Given the description of an element on the screen output the (x, y) to click on. 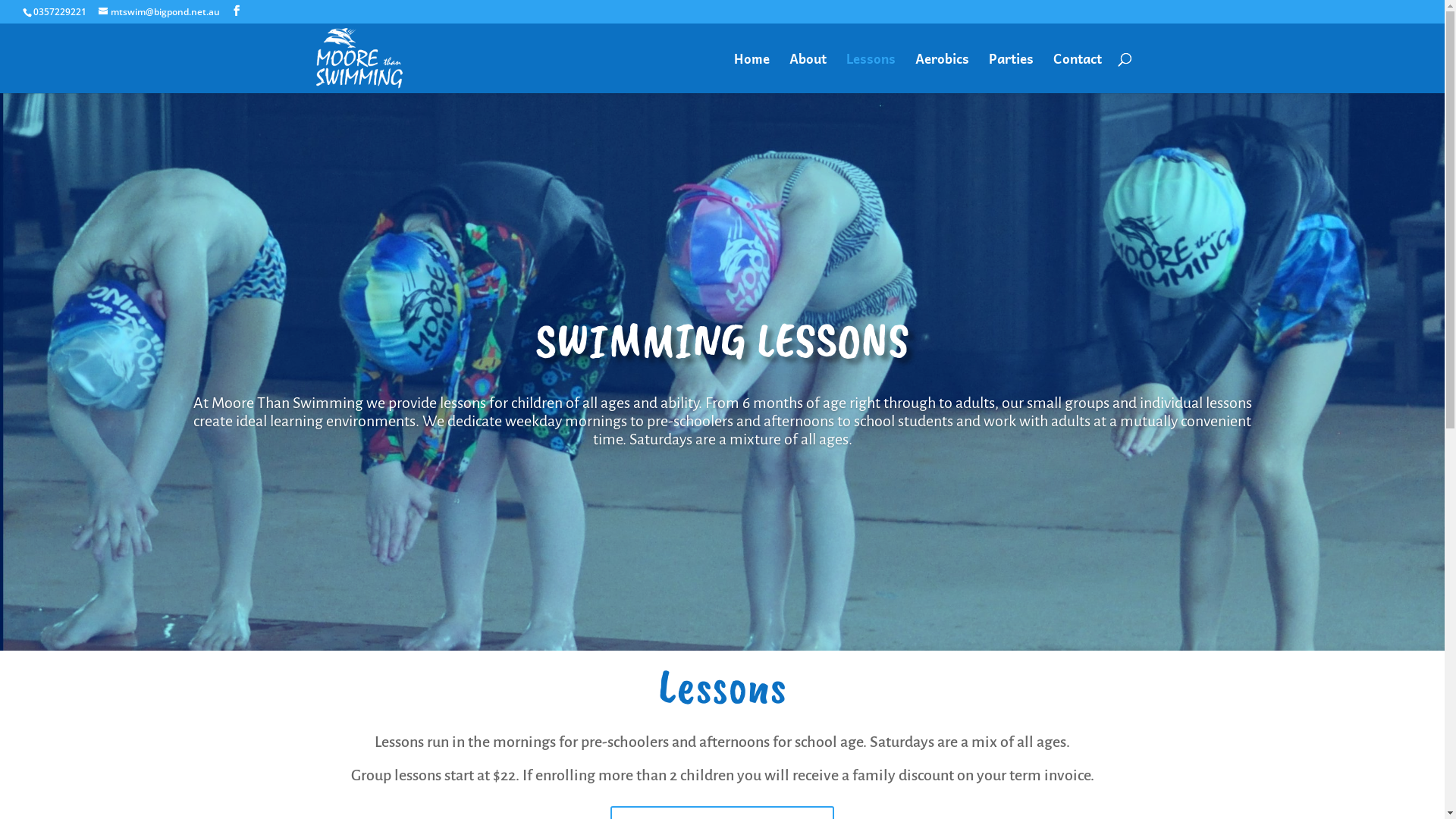
Lessons Element type: text (870, 73)
Contact Element type: text (1076, 73)
About Element type: text (806, 73)
Aerobics Element type: text (941, 73)
mtswim@bigpond.net.au Element type: text (158, 11)
Parties Element type: text (1010, 73)
Home Element type: text (751, 73)
